Given the description of an element on the screen output the (x, y) to click on. 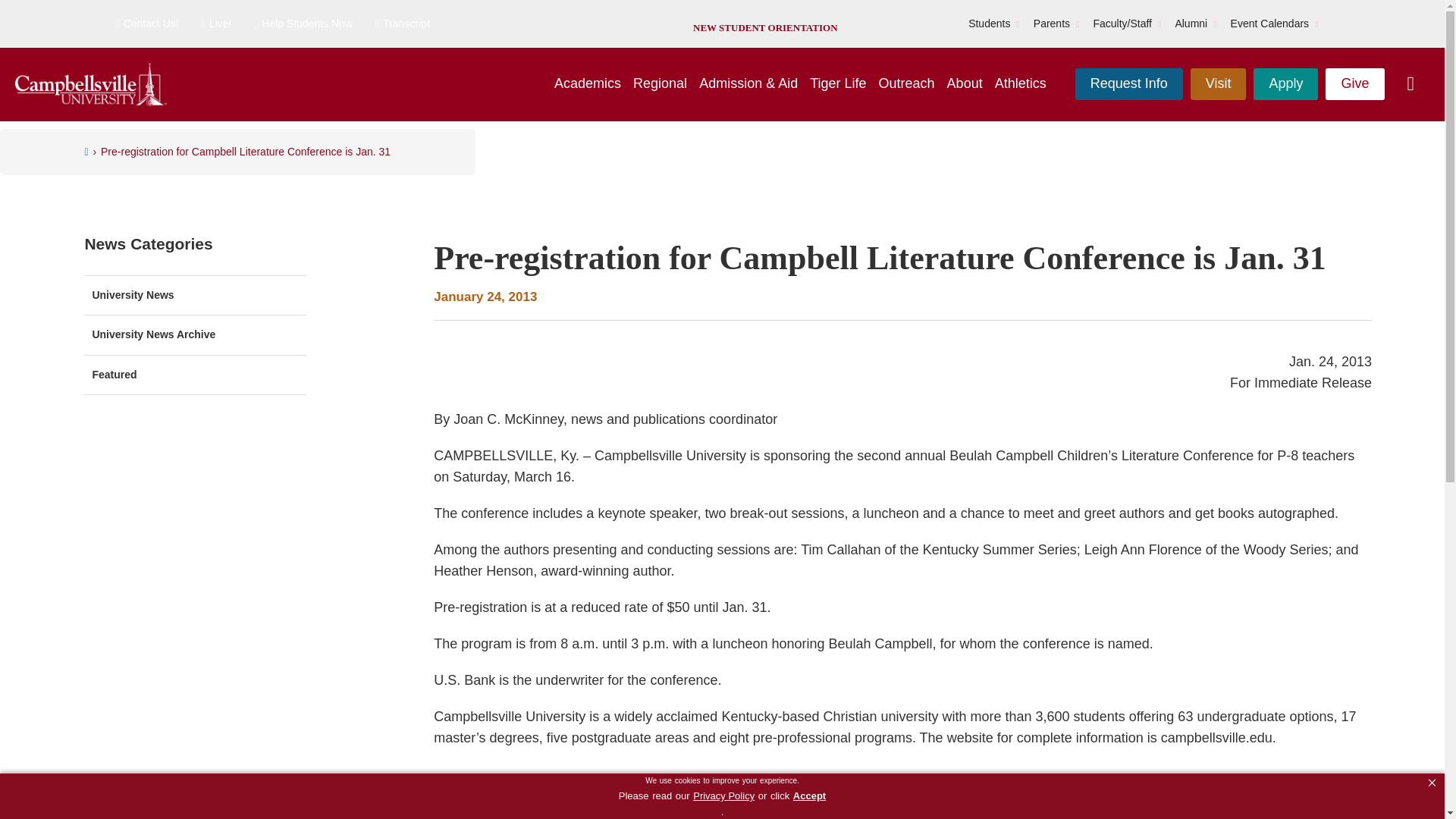
NEW STUDENT ORIENTATION (765, 27)
Contact Us! (146, 24)
Accept (809, 796)
Help Students Now (302, 24)
Parents (1051, 24)
Live! (216, 24)
Privacy Policy (723, 796)
Campbellsville University Logo (90, 84)
Transcript (402, 24)
Students (989, 24)
